Given the description of an element on the screen output the (x, y) to click on. 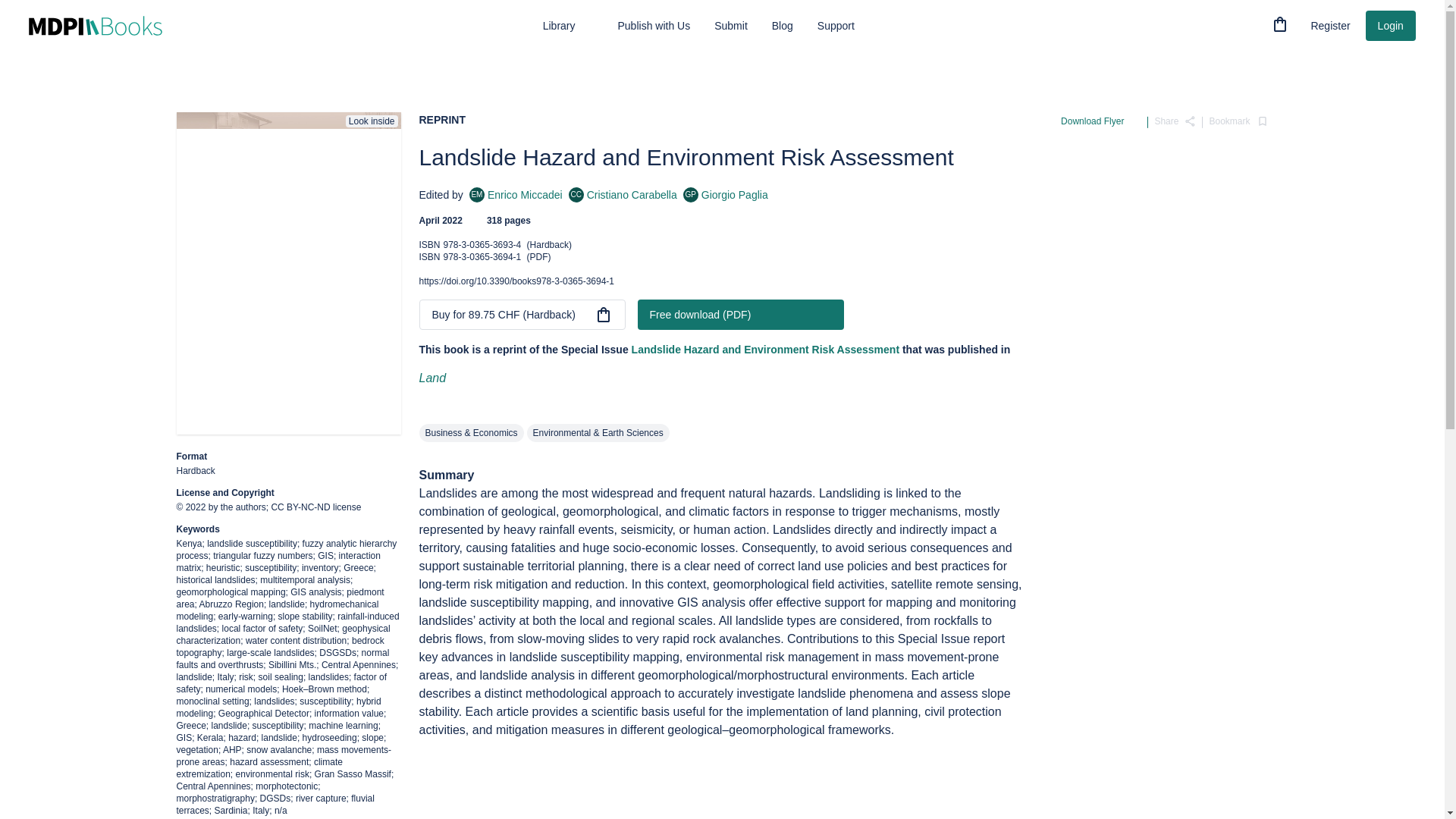
Download Flyer (1101, 121)
Register (1329, 25)
Land (515, 194)
Go to cart (432, 377)
Share (1280, 24)
Library (1175, 121)
Bookmark (568, 25)
Search (1238, 121)
Landslide Hazard and Environment Risk Assessment (1249, 24)
